Given the description of an element on the screen output the (x, y) to click on. 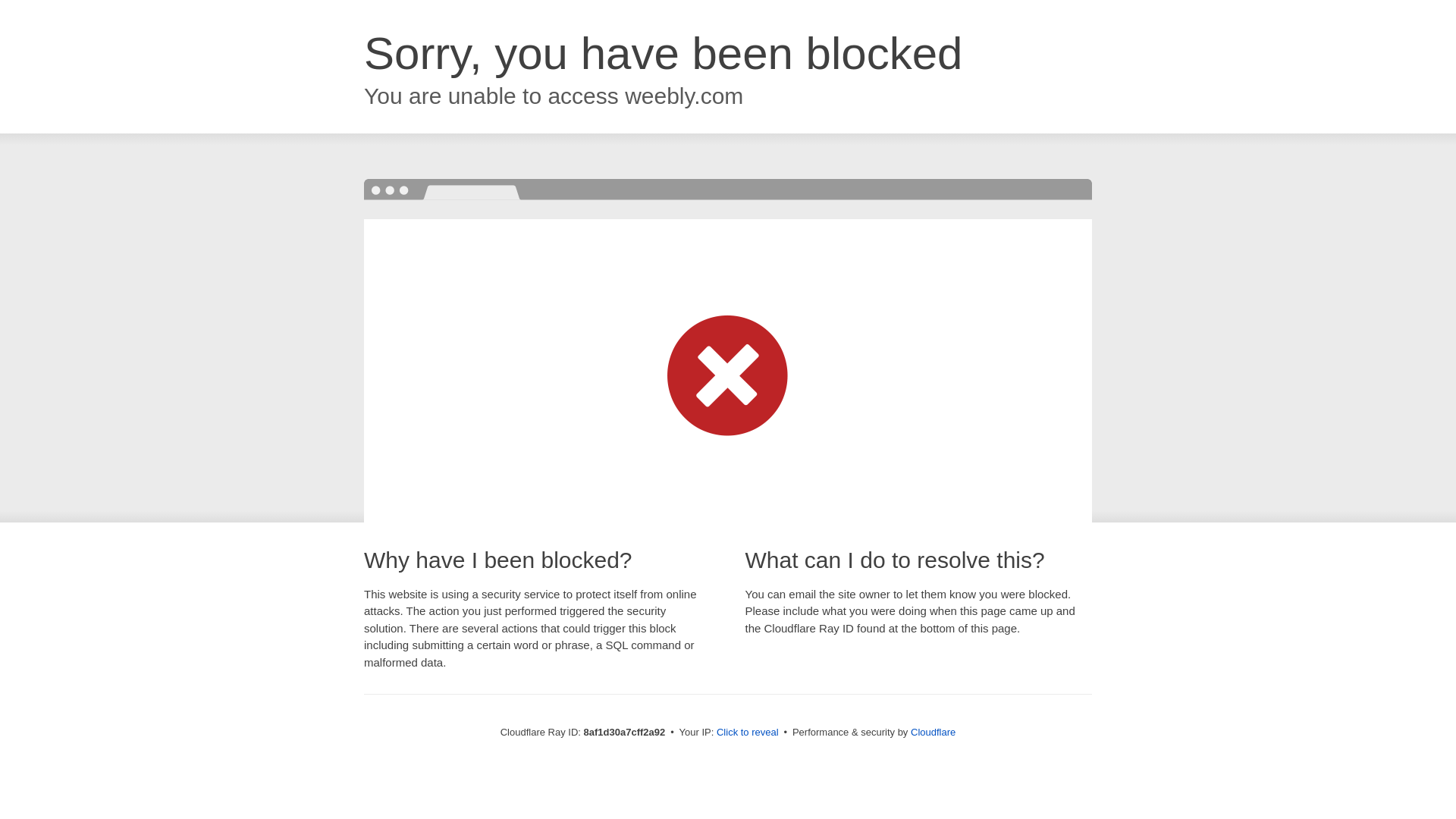
Cloudflare (933, 731)
Click to reveal (747, 732)
